Given the description of an element on the screen output the (x, y) to click on. 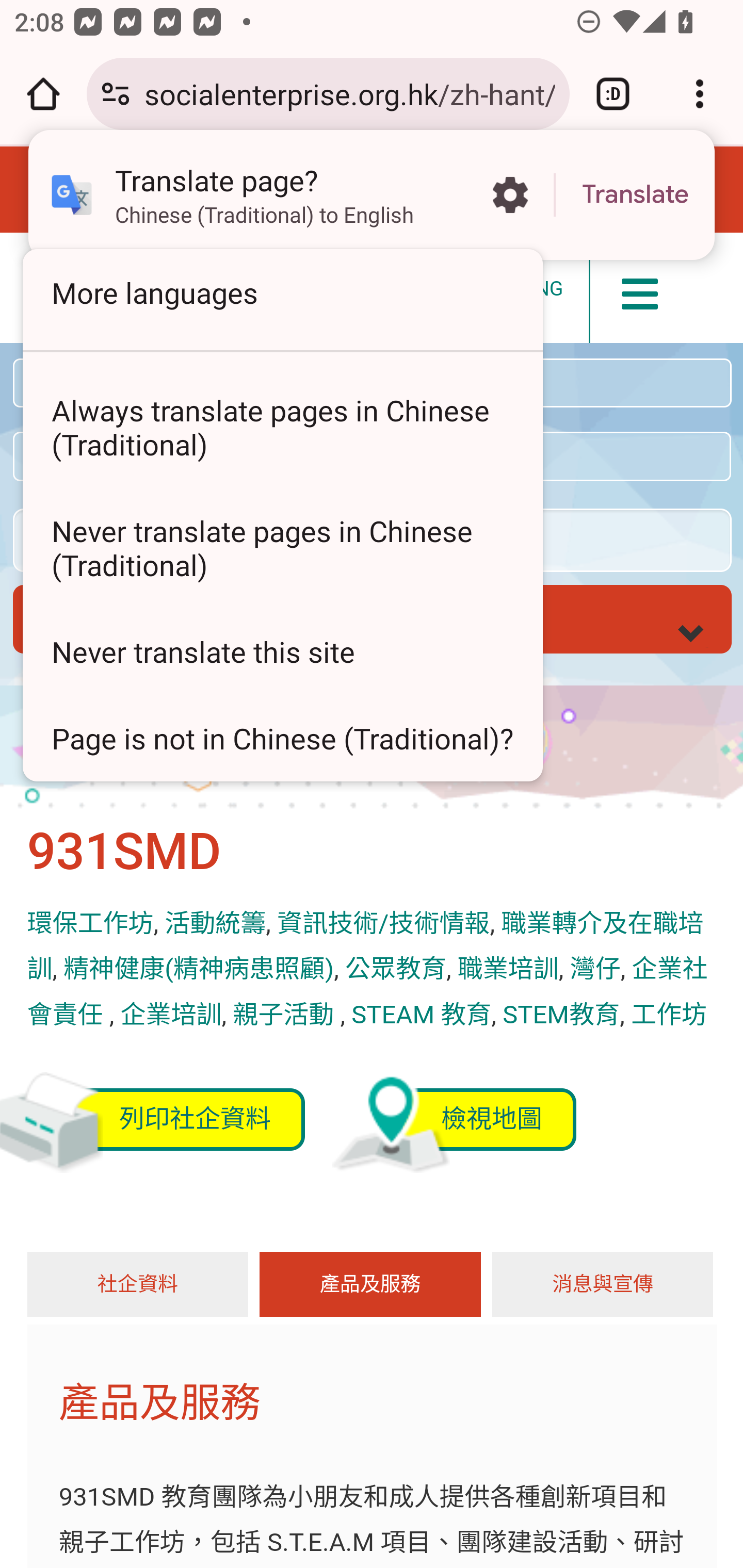
More languages (283, 292)
Always translate pages in Chinese (Traditional) (283, 426)
Never translate pages in Chinese (Traditional) (283, 547)
Never translate this site (283, 651)
Page is not in Chinese (Traditional)? (283, 737)
